Given the description of an element on the screen output the (x, y) to click on. 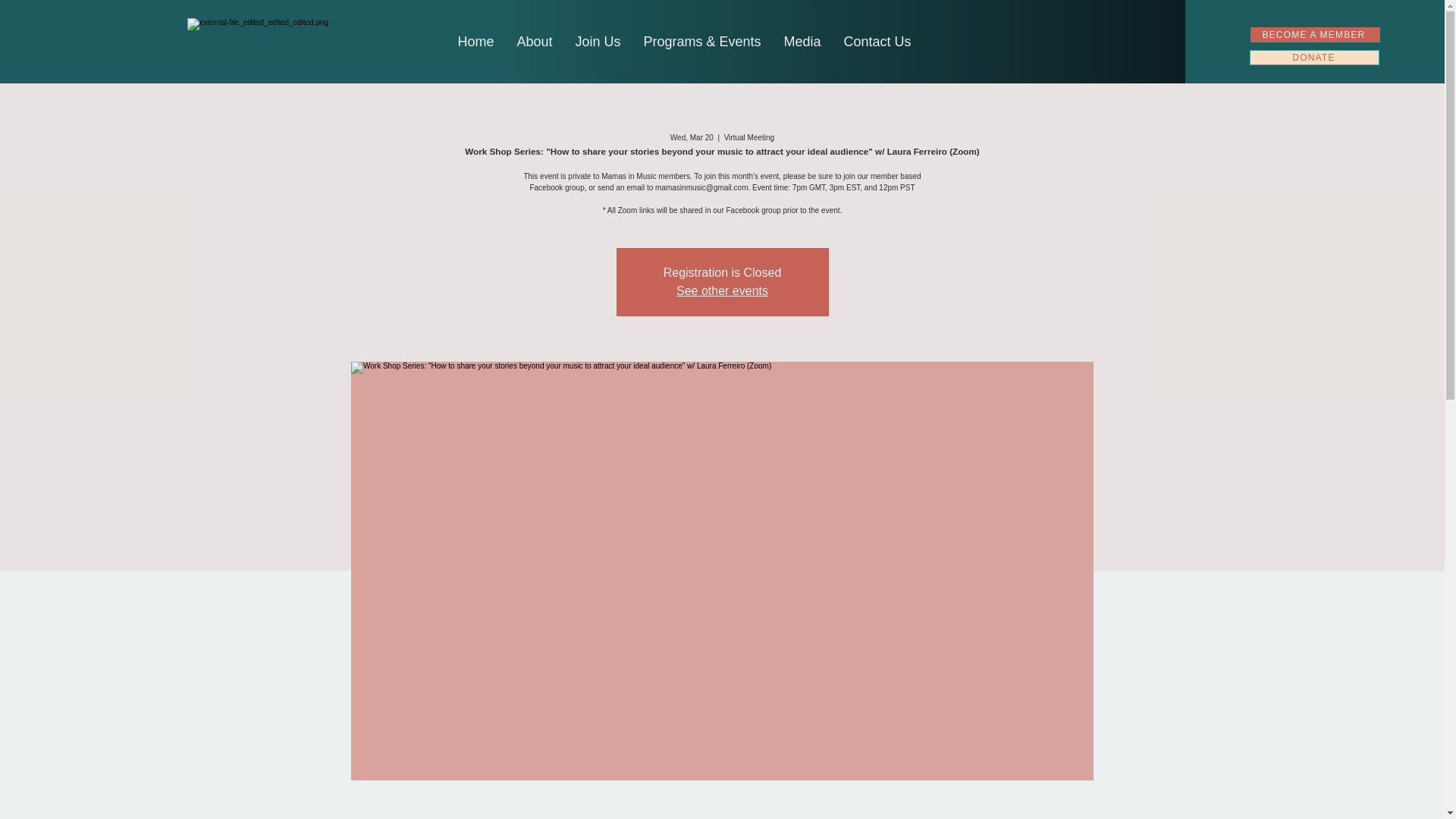
Home (475, 41)
DONATE (1313, 57)
See other events (722, 290)
Contact Us (876, 41)
BECOME A MEMBER (1315, 34)
